Given the description of an element on the screen output the (x, y) to click on. 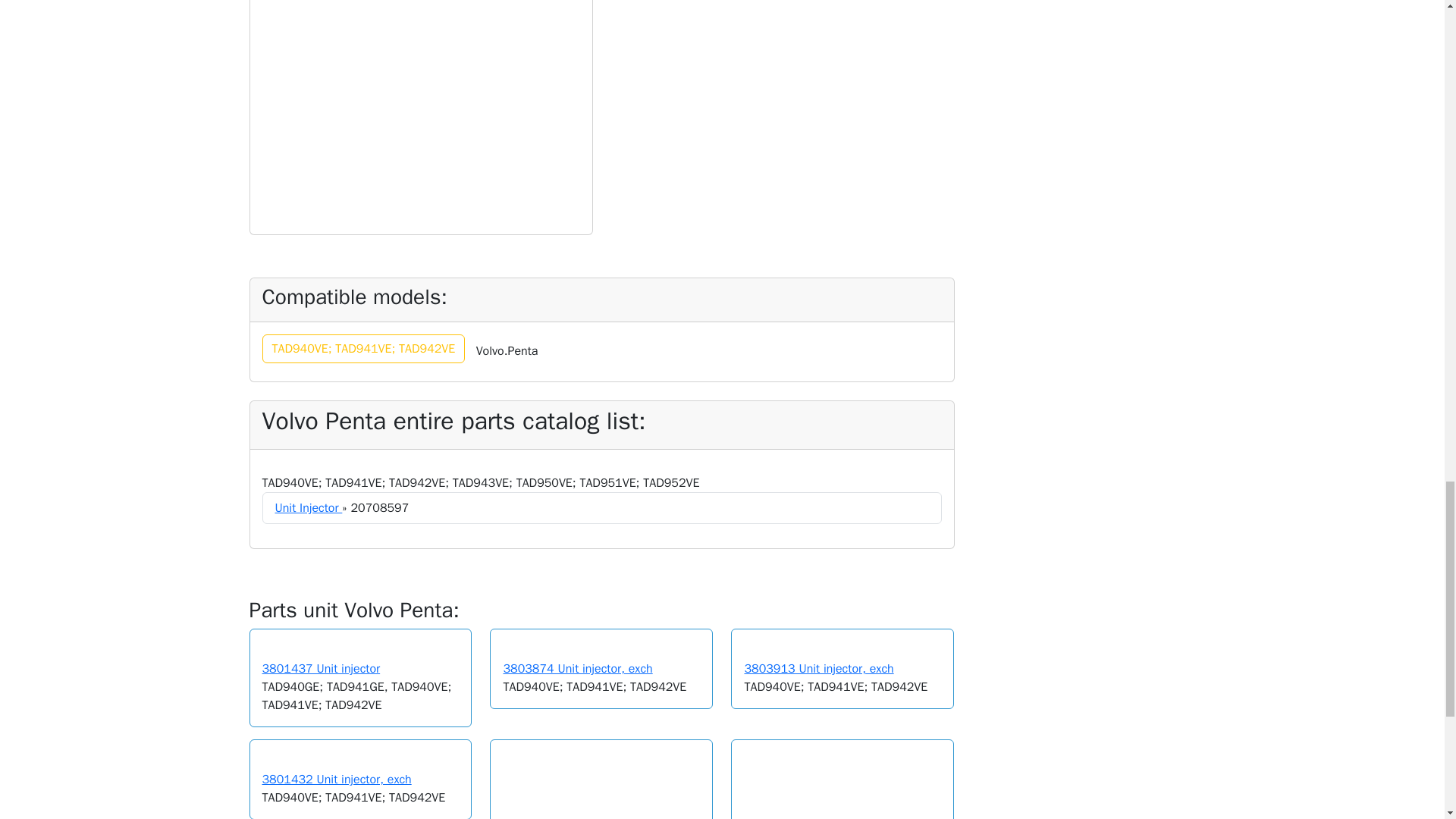
3803874 Unit injector, exch (577, 668)
TAD940VE; TAD941VE; TAD942VE Volvo.Penta catalogue (363, 348)
Advertisement (783, 107)
3801437 Unit injector (321, 668)
3803913 Unit injector, exch (818, 668)
TAD940VE; TAD941VE; TAD942VE (363, 348)
3801432 Unit injector, exch (337, 779)
Unit Injector (308, 507)
